Given the description of an element on the screen output the (x, y) to click on. 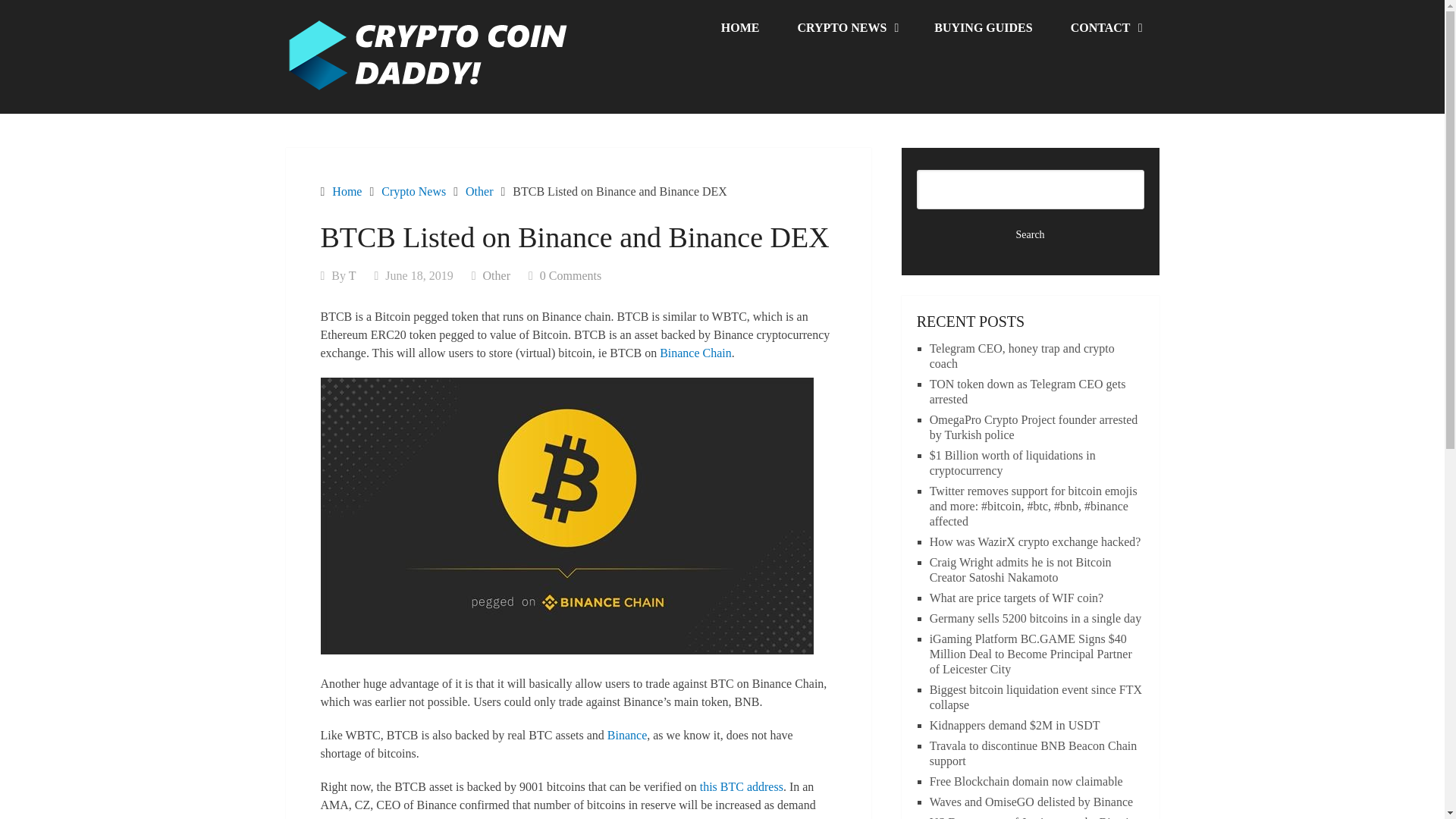
0 Comments (570, 275)
Search (1030, 235)
TON token down as Telegram CEO gets arrested (1027, 391)
Crypto News (413, 191)
Free Blockchain domain now claimable (1026, 780)
How was WazirX crypto exchange hacked? (1035, 541)
BUYING GUIDES (983, 28)
Home (346, 191)
HOME (739, 28)
Other (479, 191)
